Given the description of an element on the screen output the (x, y) to click on. 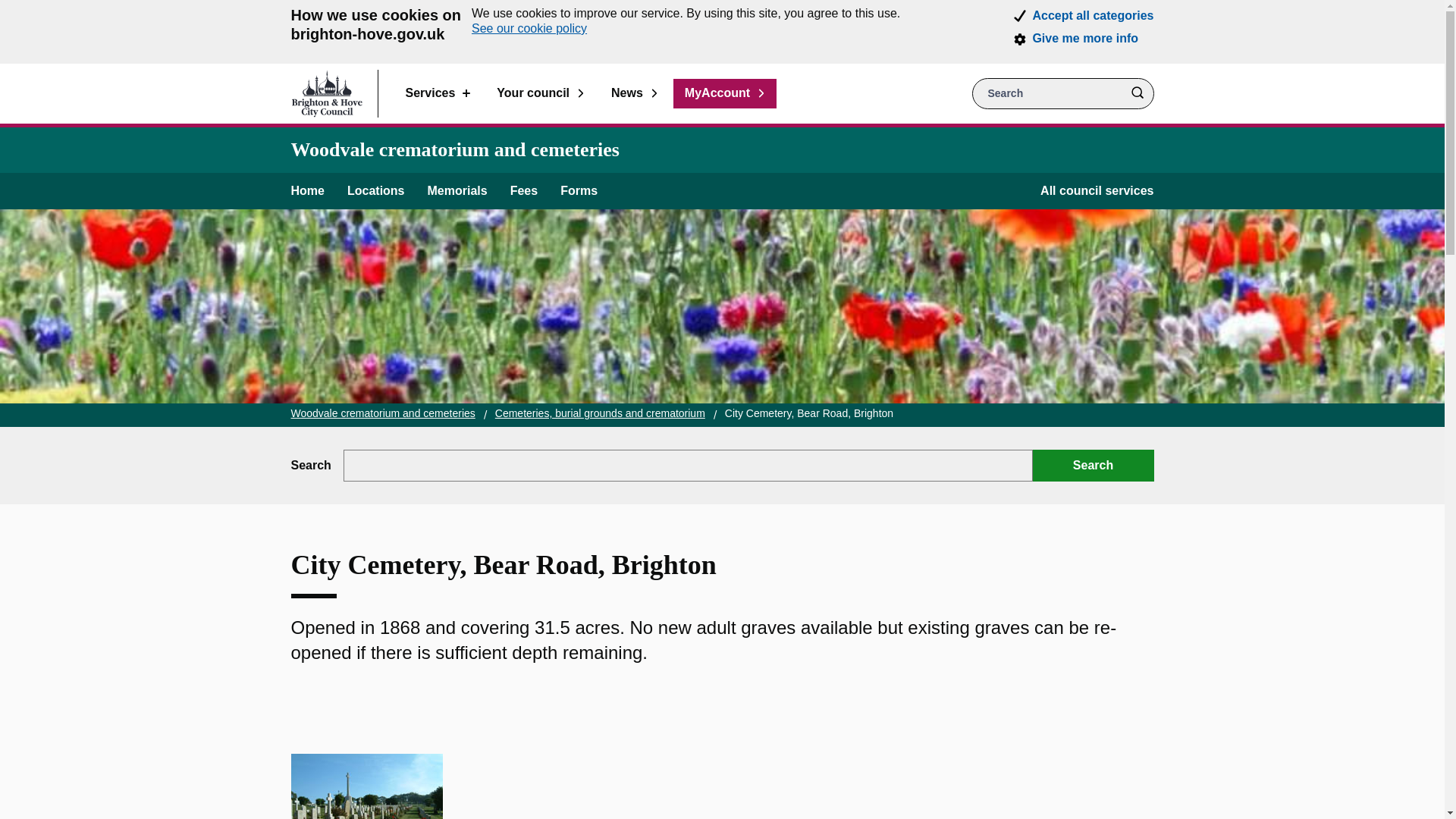
News (634, 92)
Enter the terms you wish to search for. (1063, 92)
Your council (539, 92)
See our cookie policy (528, 28)
Skip to main content (11, 11)
Give me more info (1085, 38)
Accept all categories (1092, 15)
MyAccount (724, 92)
Search (1137, 93)
